Given the description of an element on the screen output the (x, y) to click on. 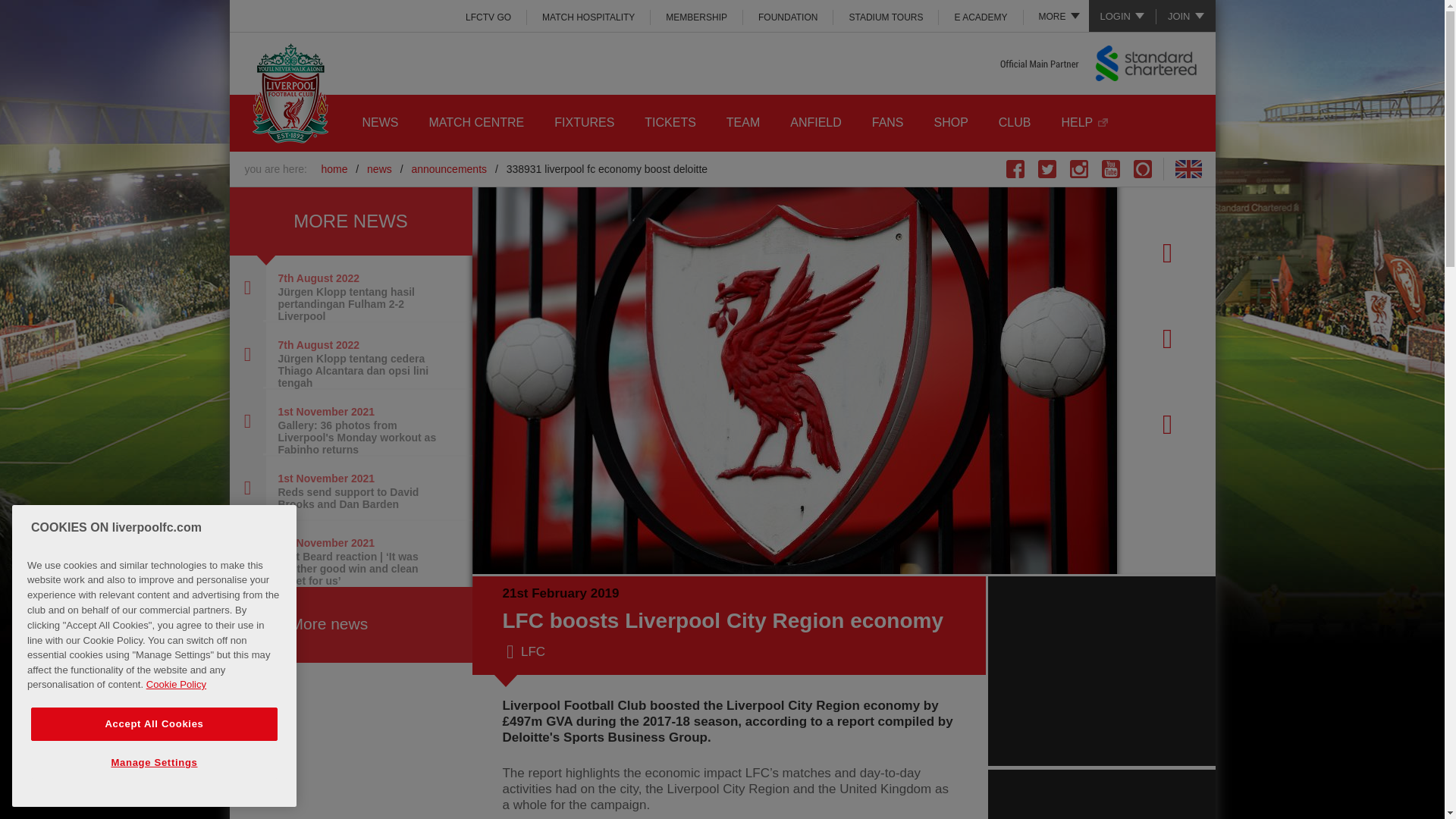
MEMBERSHIP (696, 17)
Go to The Official Liverpool Football Club Youtube page (1110, 169)
Twitter (1164, 341)
Go to The Official Liverpool Football Club Instagram page (1078, 169)
Go to The Official Liverpool Football Club Twitter page (1046, 169)
FOUNDATION (787, 17)
Go to The Official Liverpool Football Club Facebook page (1015, 169)
Go to The Official Liverpool Football Club Alexa page (1142, 169)
Mail (1164, 427)
